Given the description of an element on the screen output the (x, y) to click on. 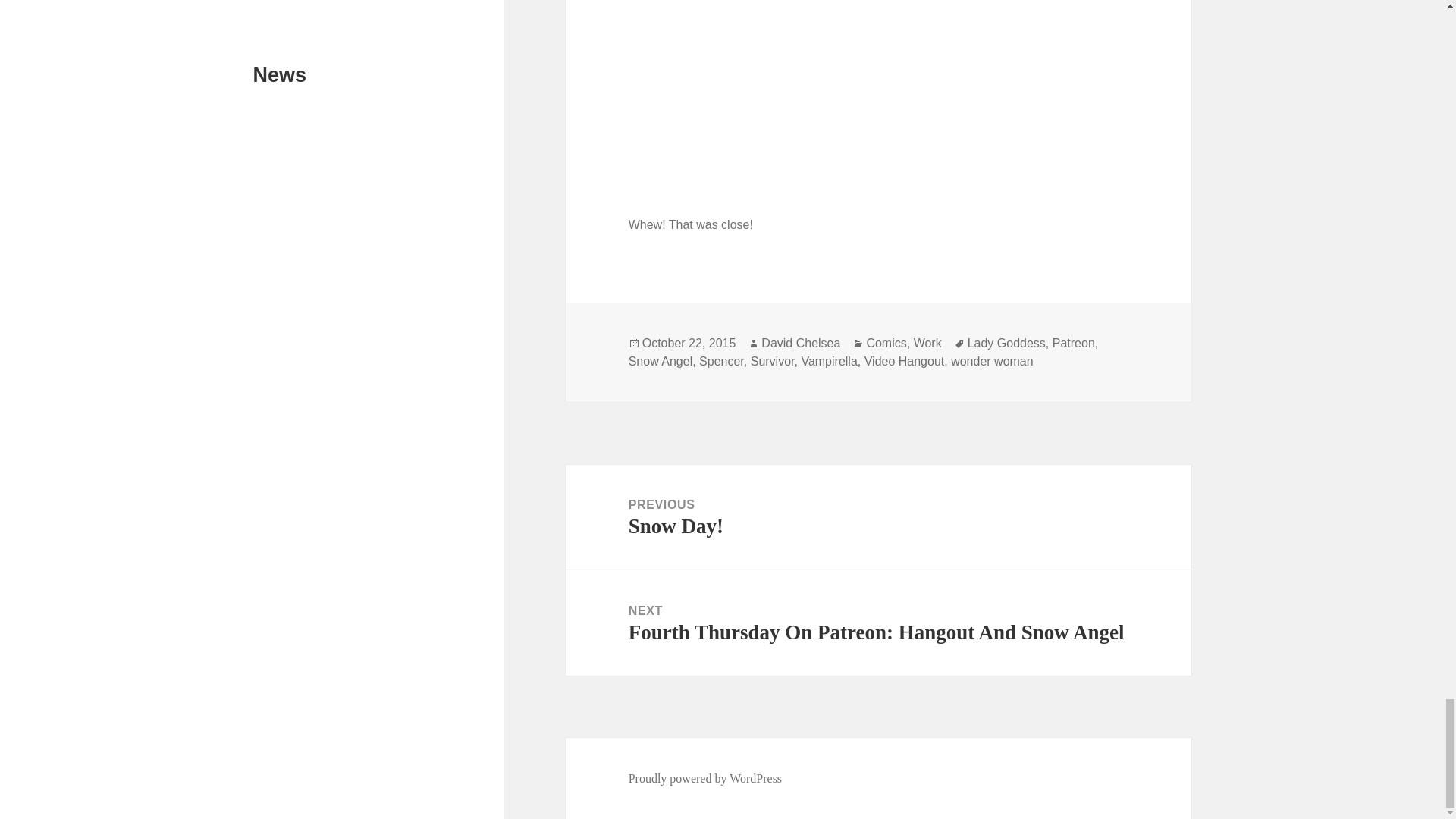
Comics (885, 343)
Snow Angel (660, 361)
Proudly powered by WordPress (704, 778)
Spencer (721, 361)
Patreon (878, 517)
Vampirella (1073, 343)
Video Hangout (828, 361)
Survivor (904, 361)
